Given the description of an element on the screen output the (x, y) to click on. 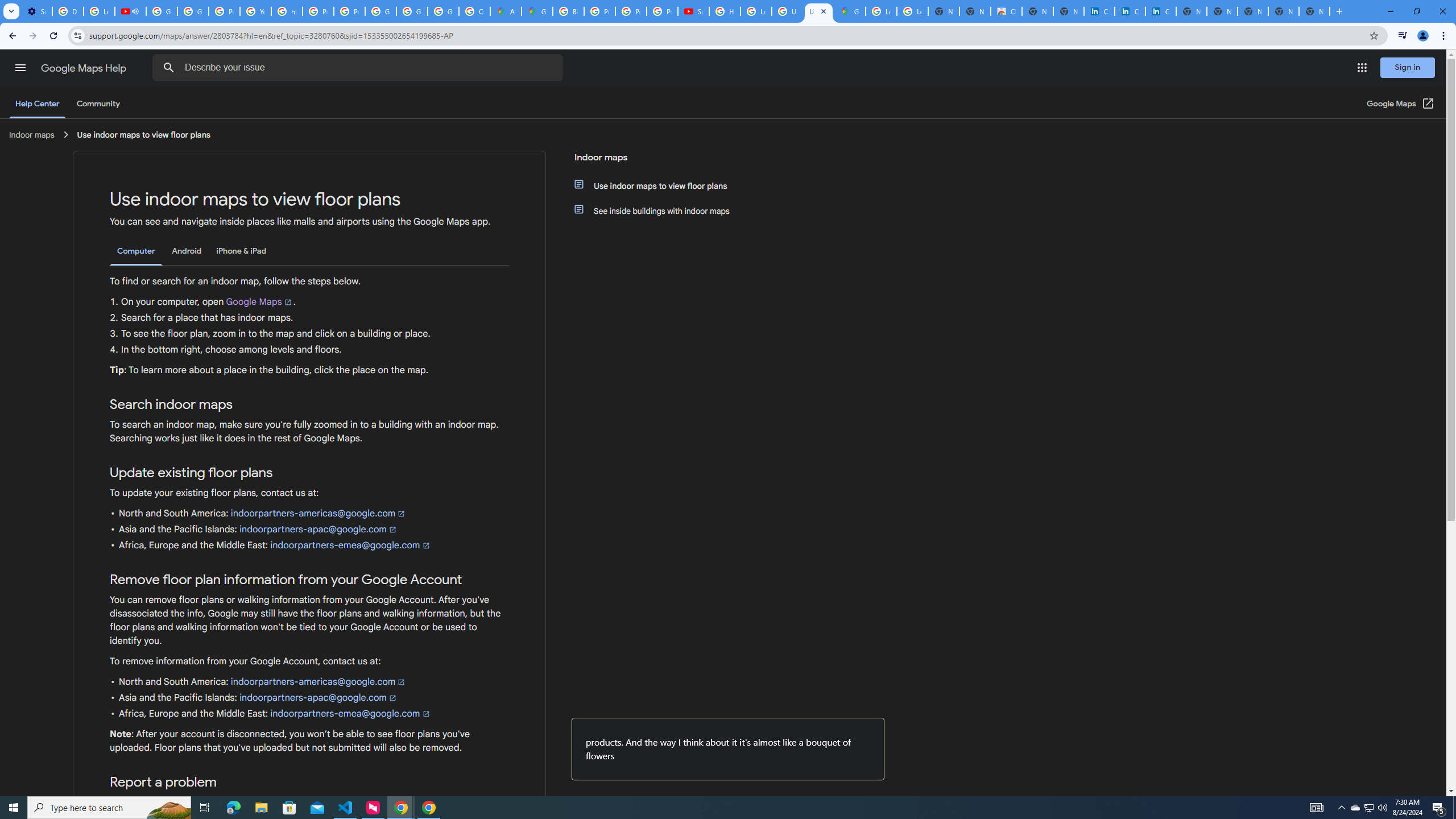
Learn how to find your photos - Google Photos Help (98, 11)
indoorpartners-apac@google.com (317, 697)
Create your Google Account (474, 11)
Chrome Web Store (1005, 11)
Google Maps Help (84, 68)
